Given the description of an element on the screen output the (x, y) to click on. 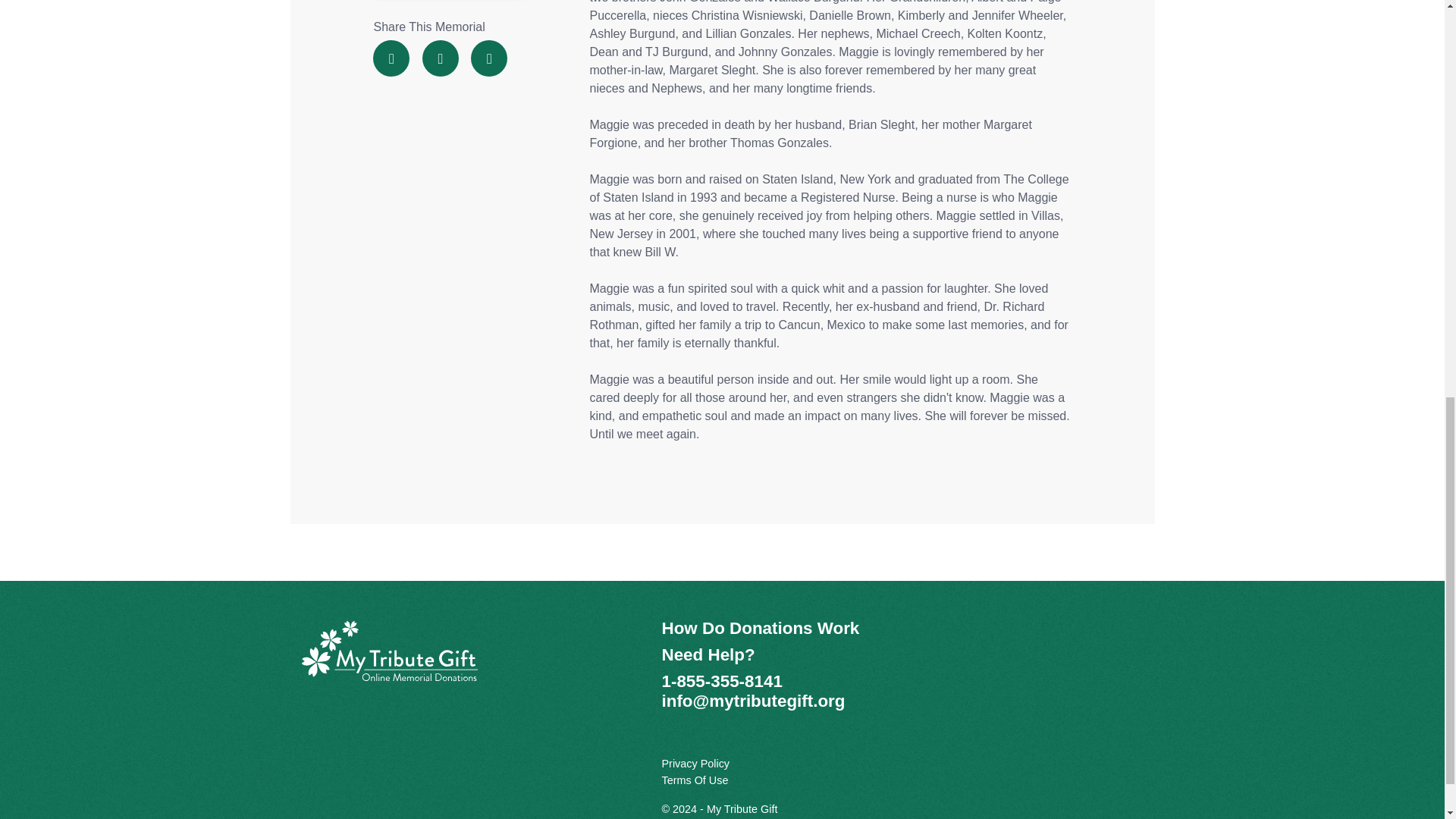
How Do Donations Work (760, 628)
Share this Memorial on Twitter (440, 58)
Share this Memorial on Facebook (390, 58)
Privacy Policy (695, 763)
Terms Of Use (694, 779)
Share this Memorial through Email (488, 58)
1-855-355-8141 (721, 681)
